Given the description of an element on the screen output the (x, y) to click on. 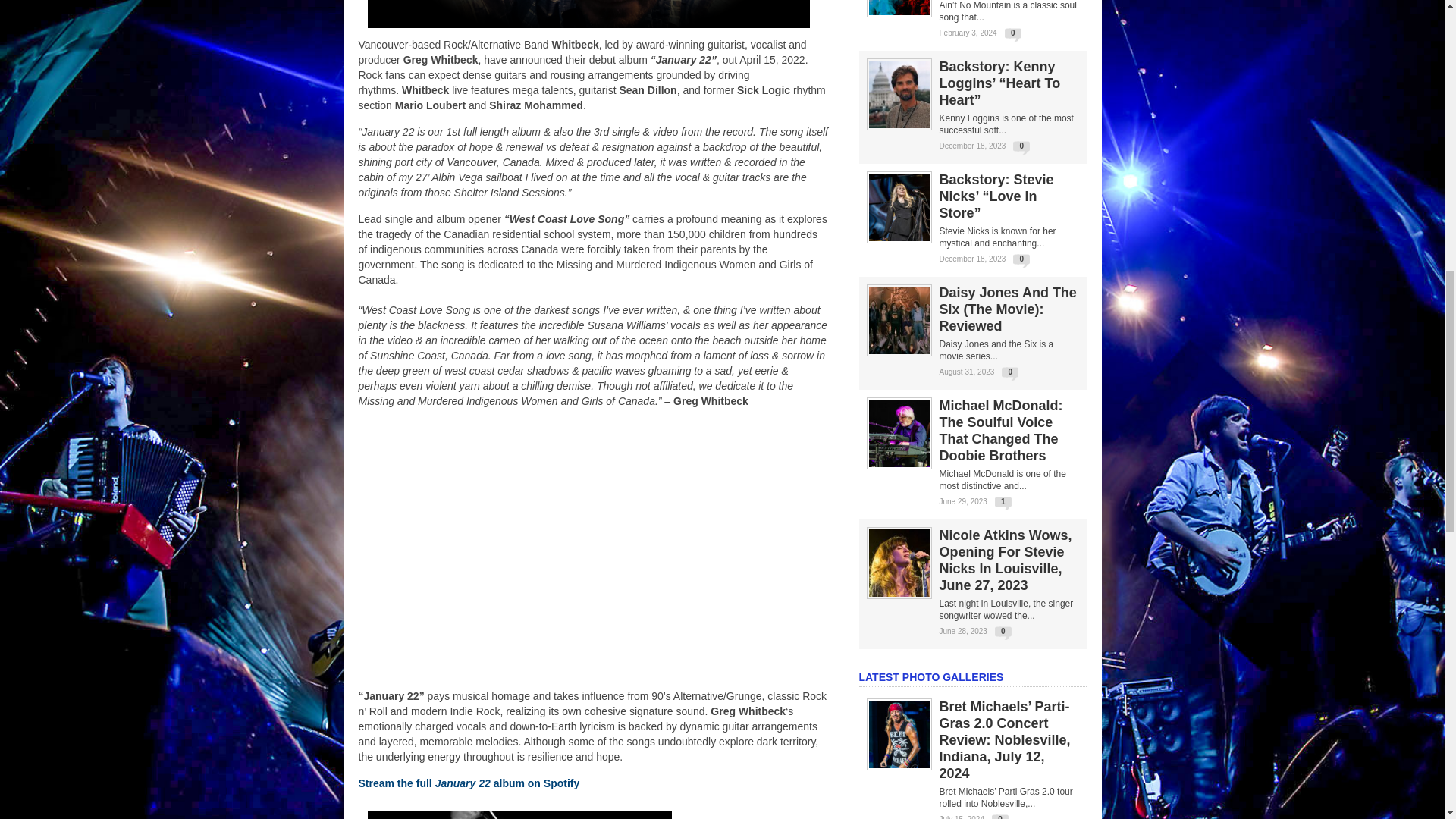
Stream the full January 22 album on Spotify (468, 783)
